Given the description of an element on the screen output the (x, y) to click on. 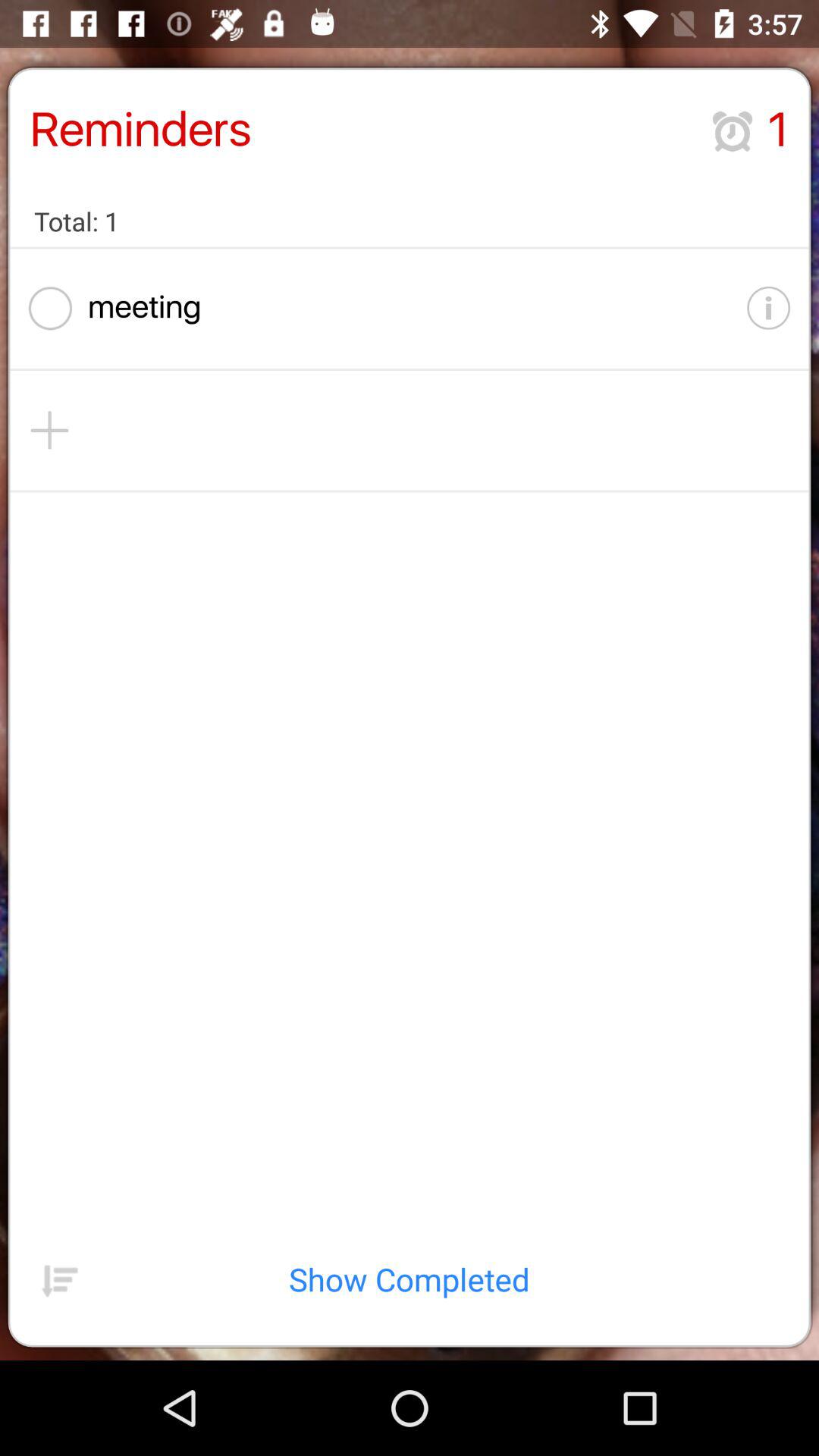
click on help icon (749, 308)
click on clock icon (732, 131)
select icon on left most bottom of the form (59, 1279)
click on the icon which is to the right from meeting (768, 308)
